Given the description of an element on the screen output the (x, y) to click on. 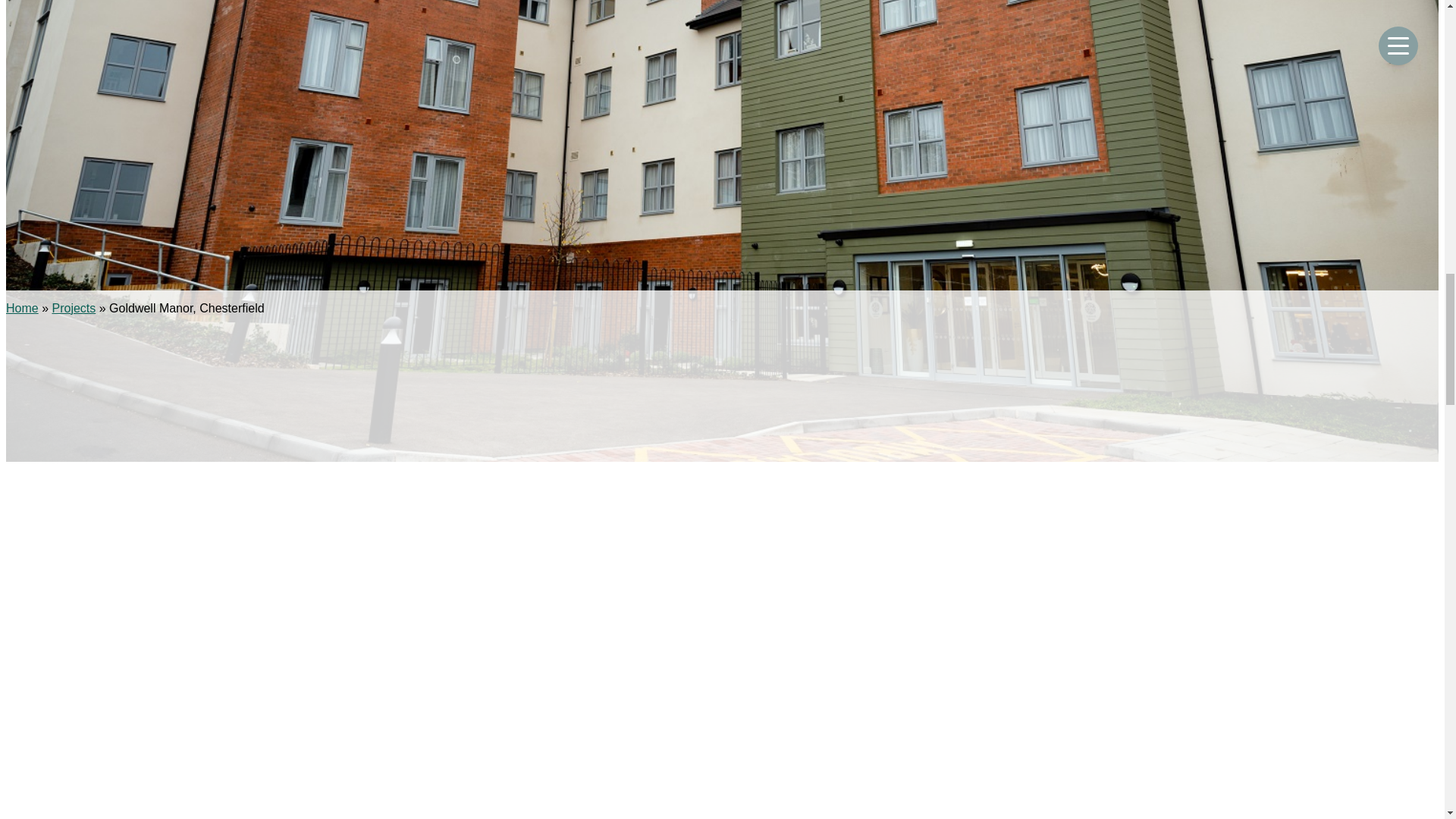
Projects (73, 308)
Home (22, 308)
